Given the description of an element on the screen output the (x, y) to click on. 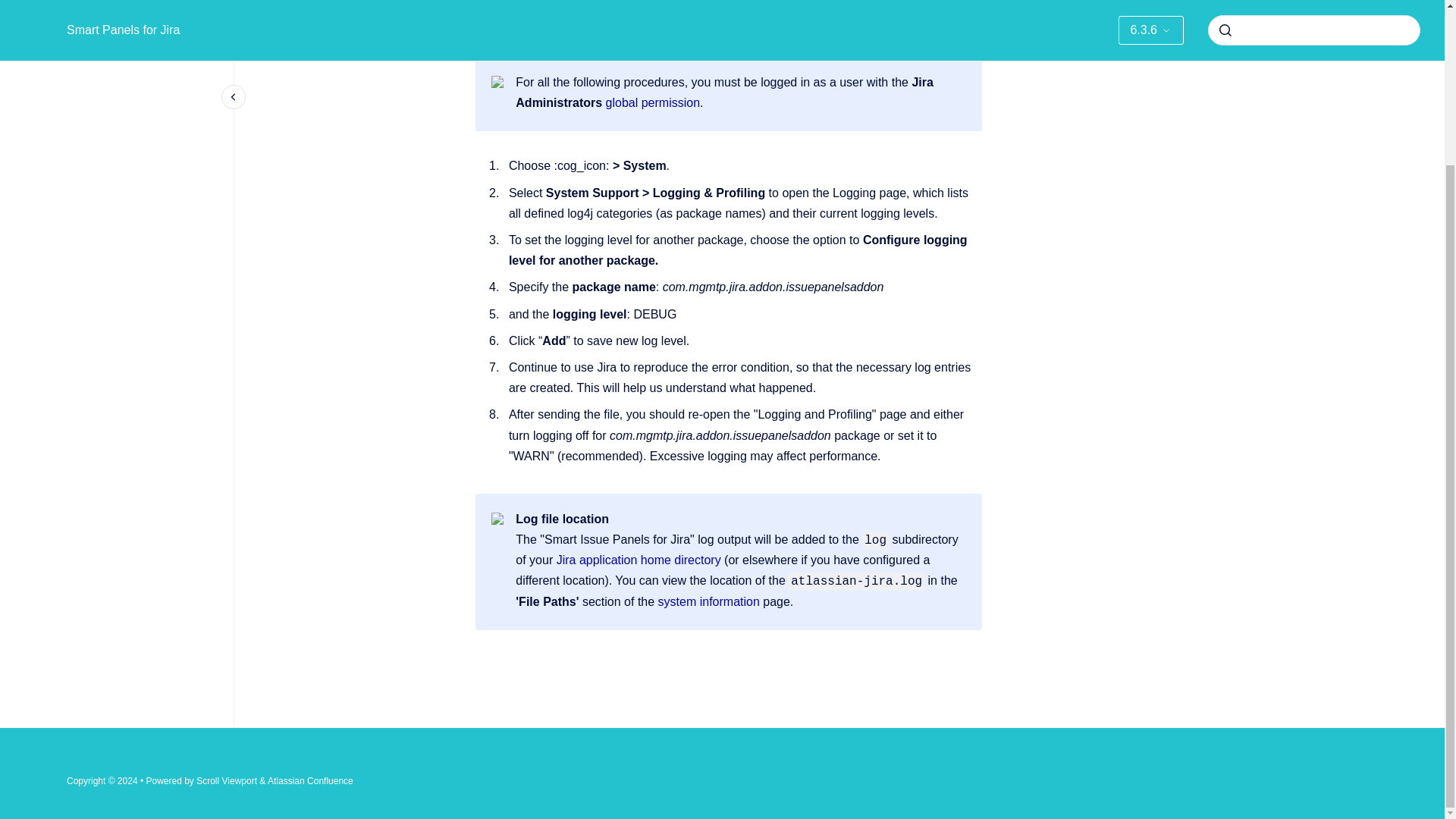
Jira application home directory (638, 559)
Scroll Viewport (227, 780)
global permission (652, 102)
Atlassian Confluence (310, 780)
system information (709, 601)
